Given the description of an element on the screen output the (x, y) to click on. 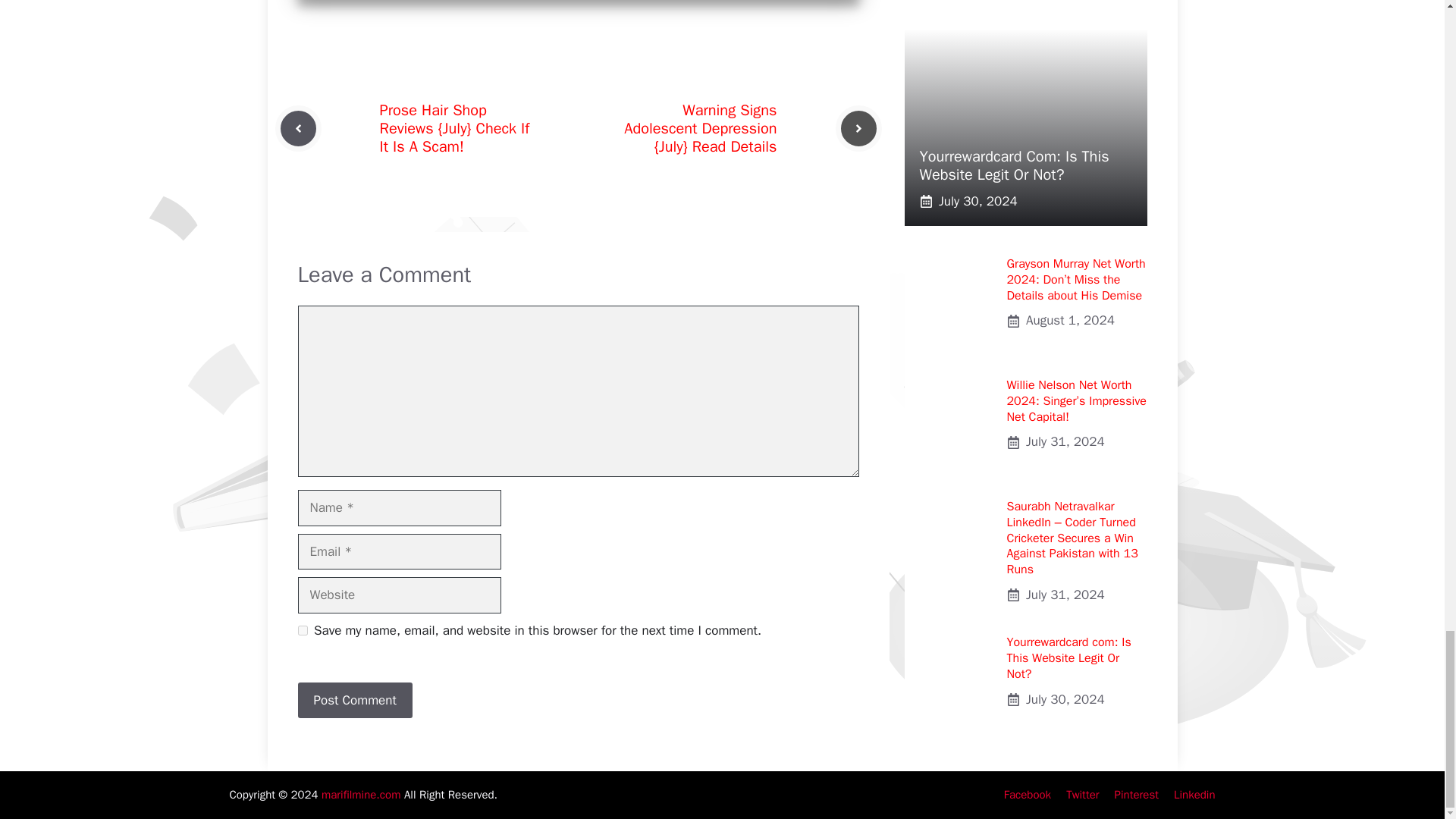
Post Comment (354, 700)
yes (302, 630)
